Given the description of an element on the screen output the (x, y) to click on. 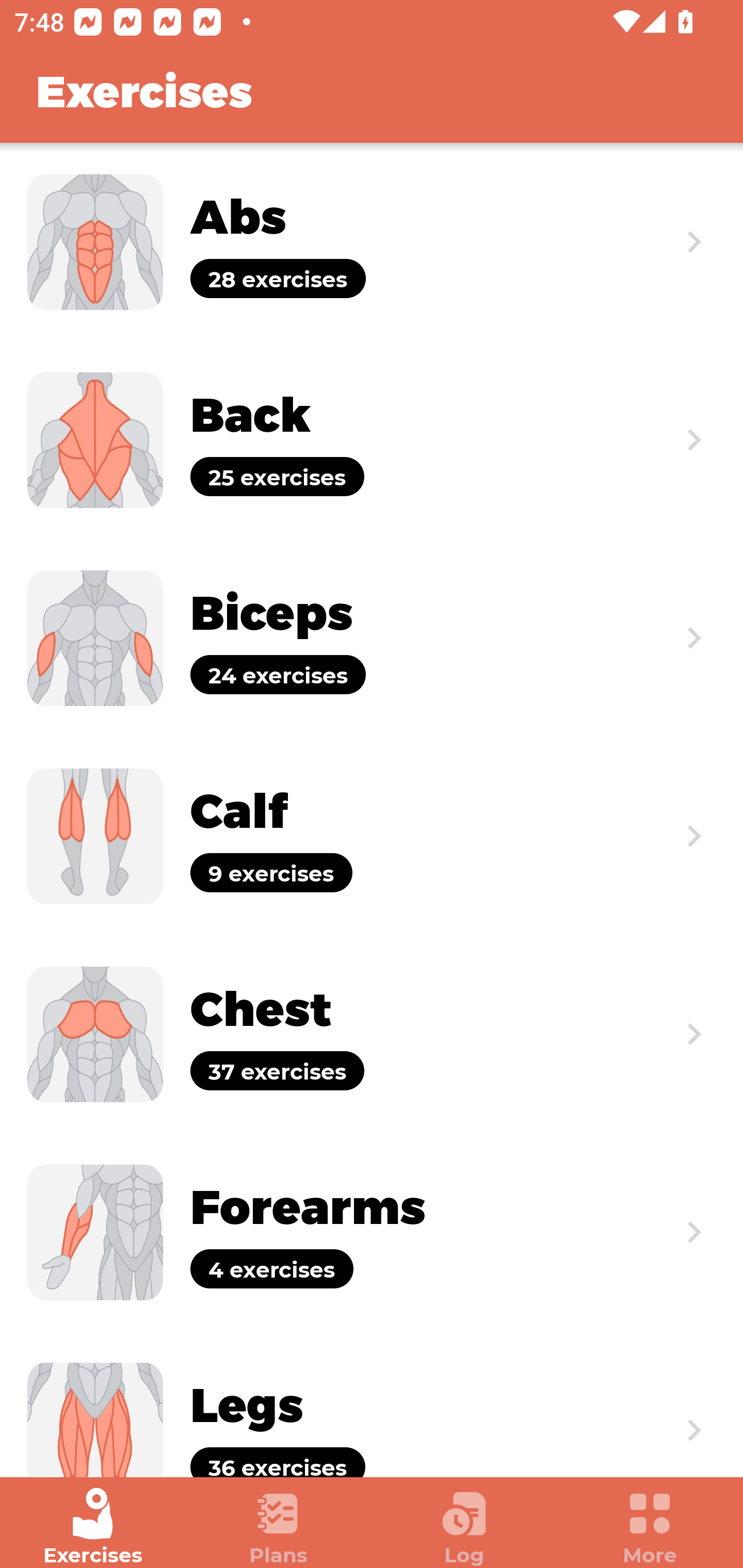
Exercise Abs 28 exercises (371, 241)
Exercise Back 25 exercises (371, 439)
Exercise Biceps 24 exercises (371, 637)
Exercise Calf 9 exercises (371, 836)
Exercise Chest 37 exercises (371, 1033)
Exercise Forearms 4 exercises (371, 1232)
Exercise Legs 36 exercises (371, 1404)
Exercises (92, 1527)
Plans (278, 1527)
Log (464, 1527)
More (650, 1527)
